Given the description of an element on the screen output the (x, y) to click on. 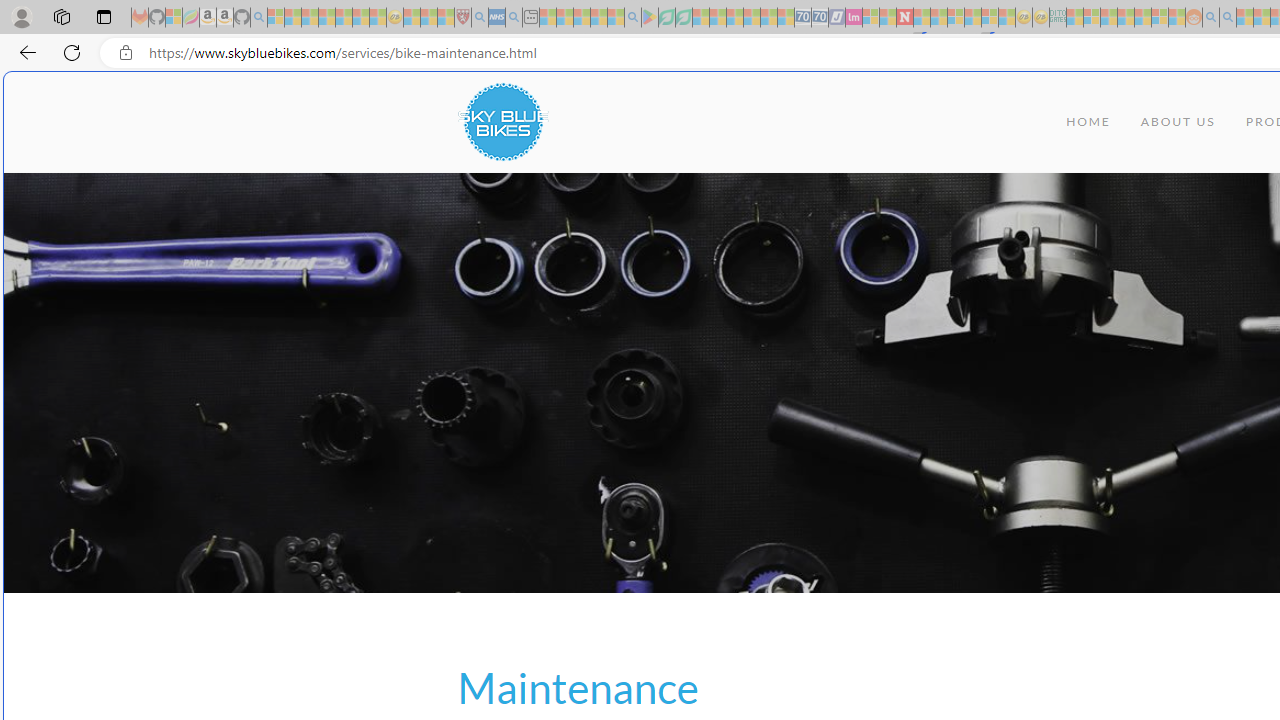
Local - MSN - Sleeping (445, 17)
Microsoft Start - Sleeping (1244, 17)
HOME (1088, 122)
